Given the description of an element on the screen output the (x, y) to click on. 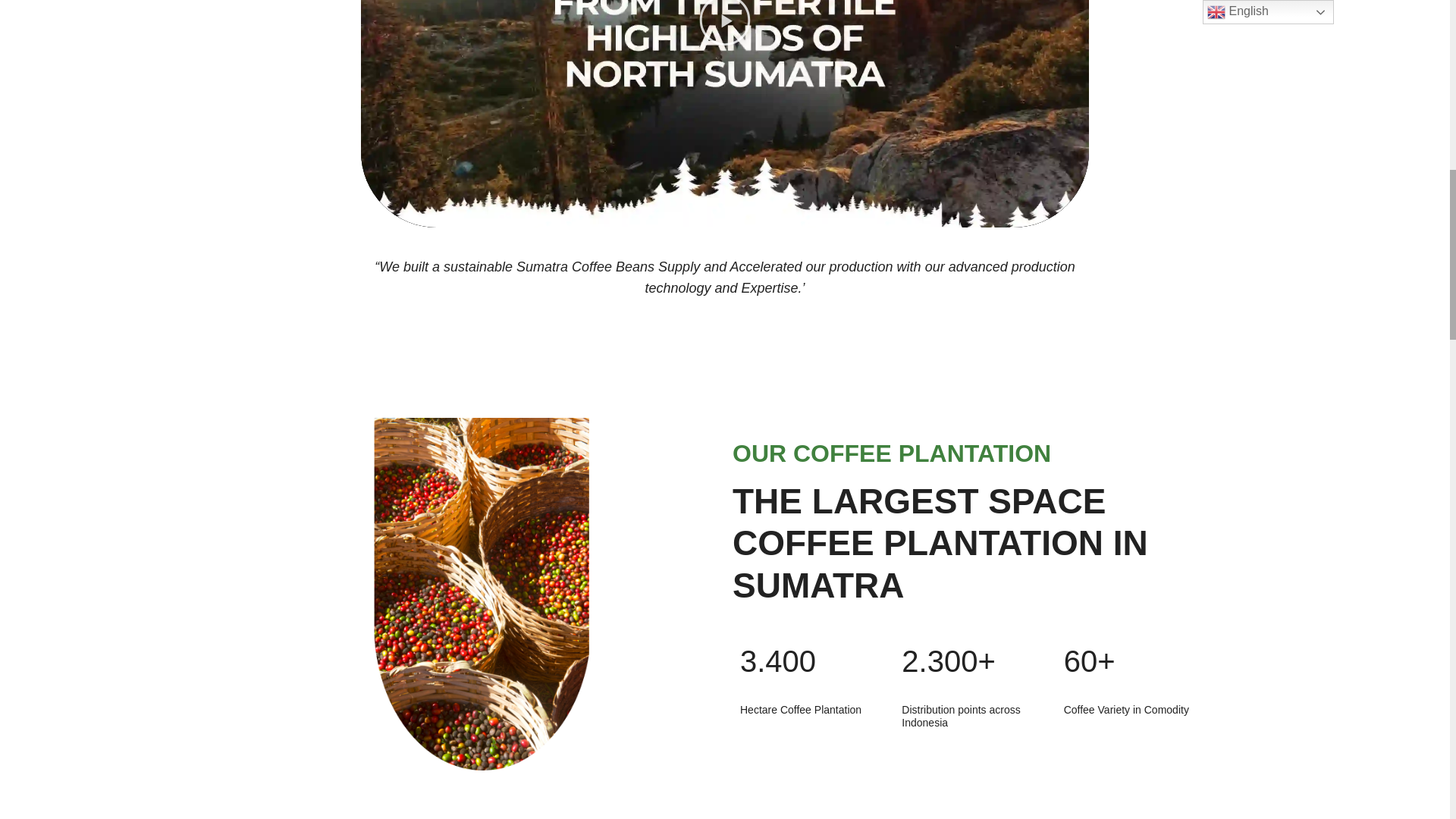
Sumatra Coffee Supplier 2 (482, 593)
